Given the description of an element on the screen output the (x, y) to click on. 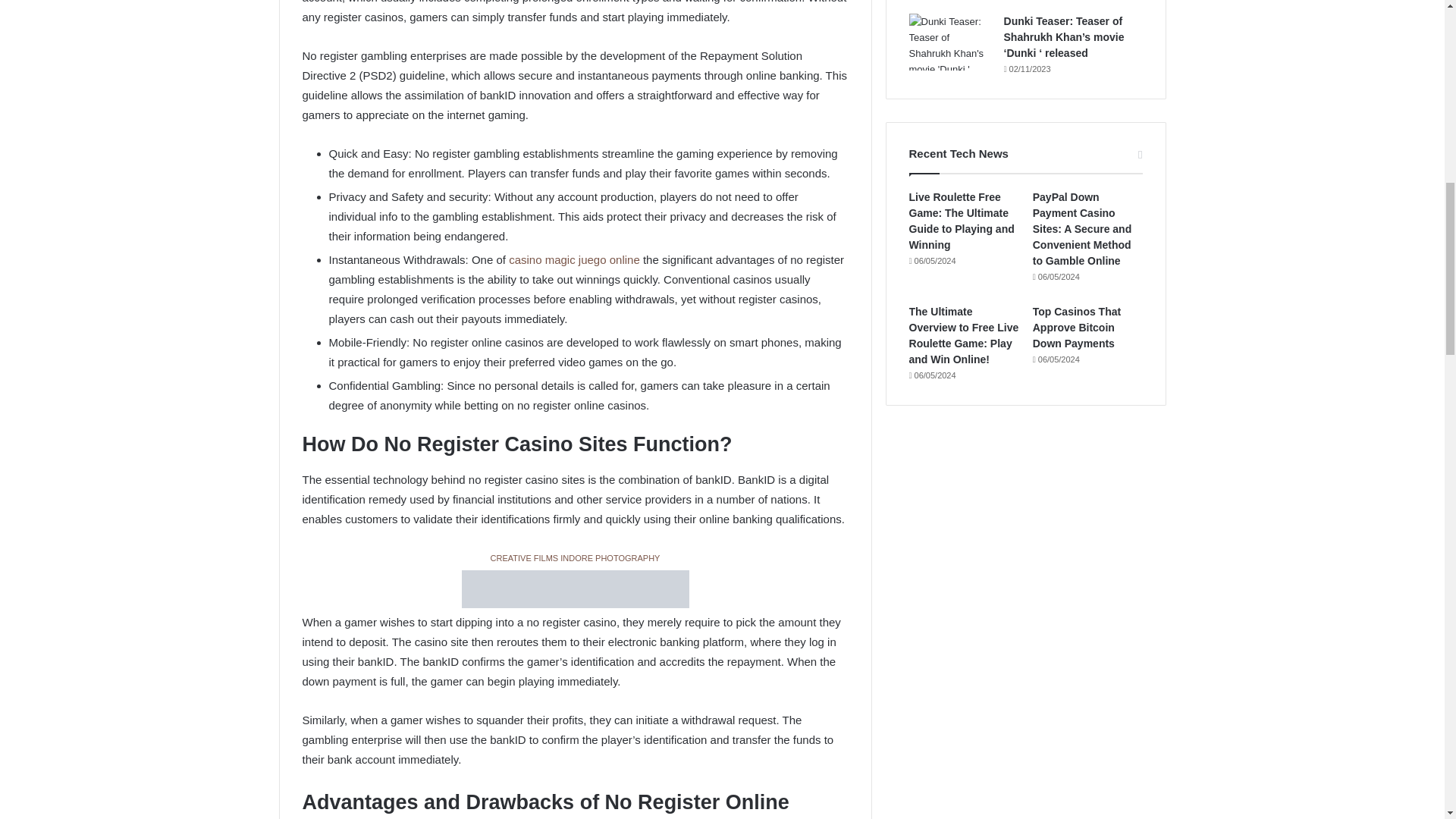
CREATIVE FILMS INDORE PHOTOGRAPHY  (574, 557)
